Given the description of an element on the screen output the (x, y) to click on. 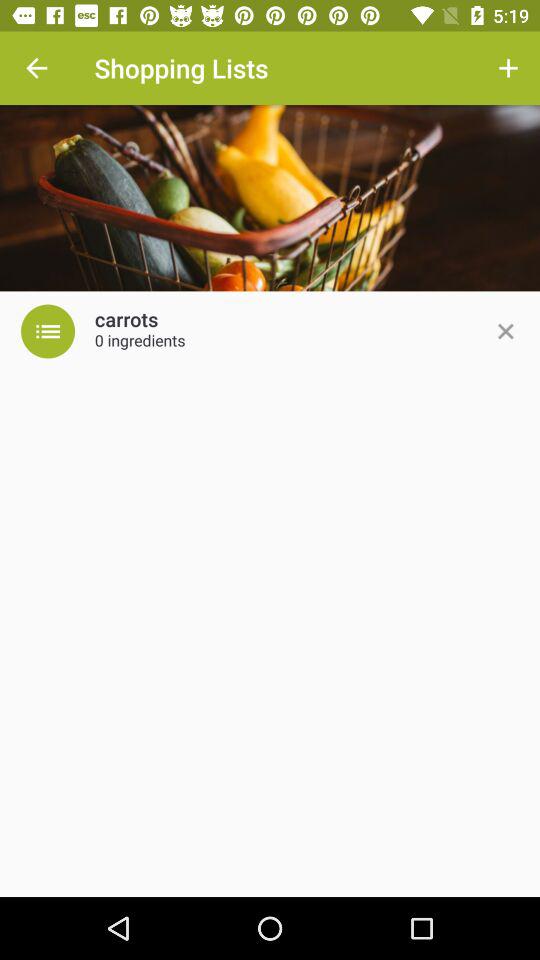
press the 0 ingredients item (139, 342)
